Given the description of an element on the screen output the (x, y) to click on. 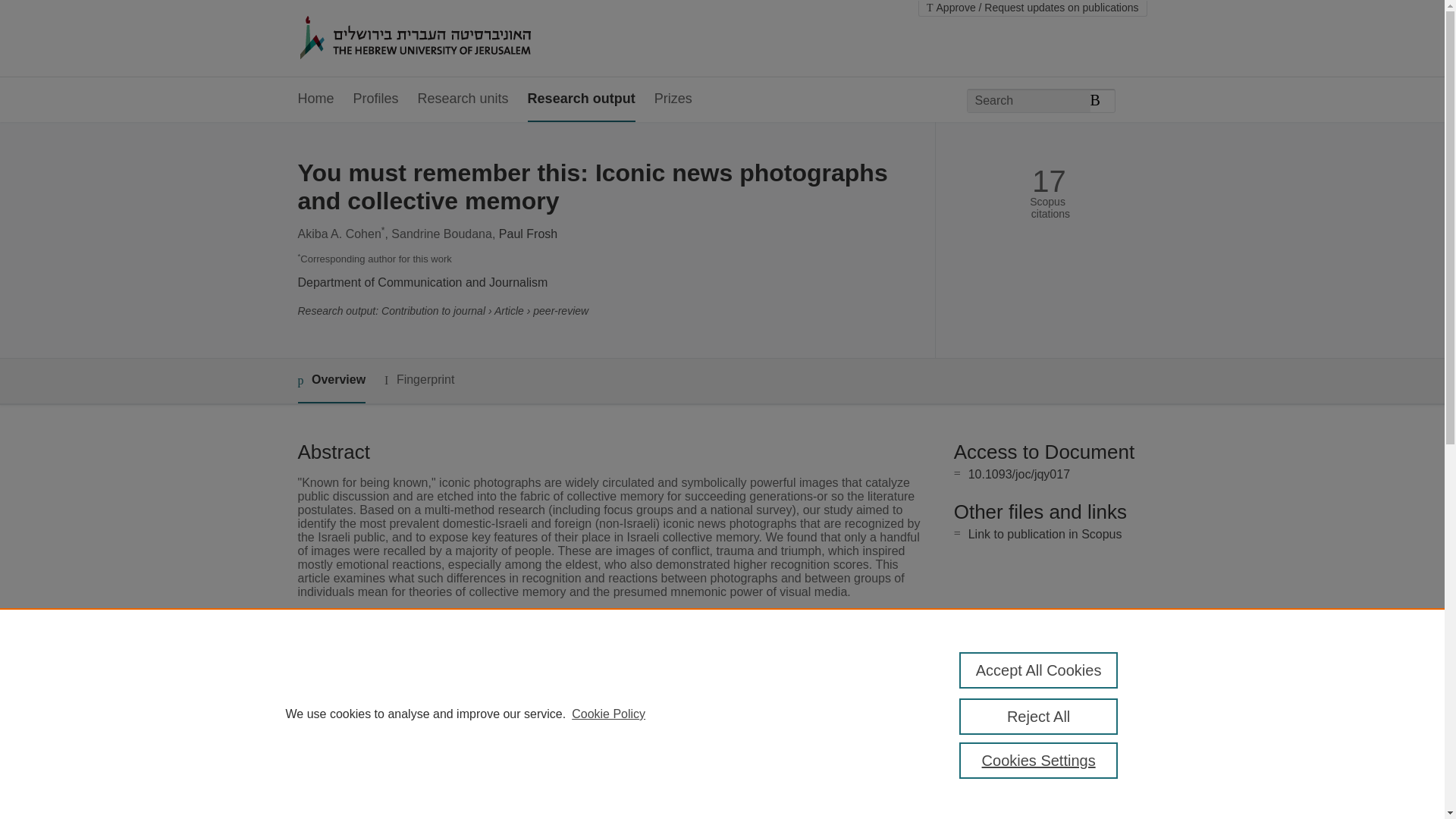
The Hebrew University of Jerusalem Home (447, 38)
Overview (331, 380)
Journal of Communication (579, 682)
Cookies Settings (1038, 760)
Profiles (375, 99)
Research units (462, 99)
Accept All Cookies (1038, 669)
Research output (580, 99)
Paul Frosh (528, 233)
Reject All (1038, 716)
Department of Communication and Journalism (422, 282)
Fingerprint (419, 380)
Link to publication in Scopus (1045, 533)
Cookie Policy (608, 713)
